Given the description of an element on the screen output the (x, y) to click on. 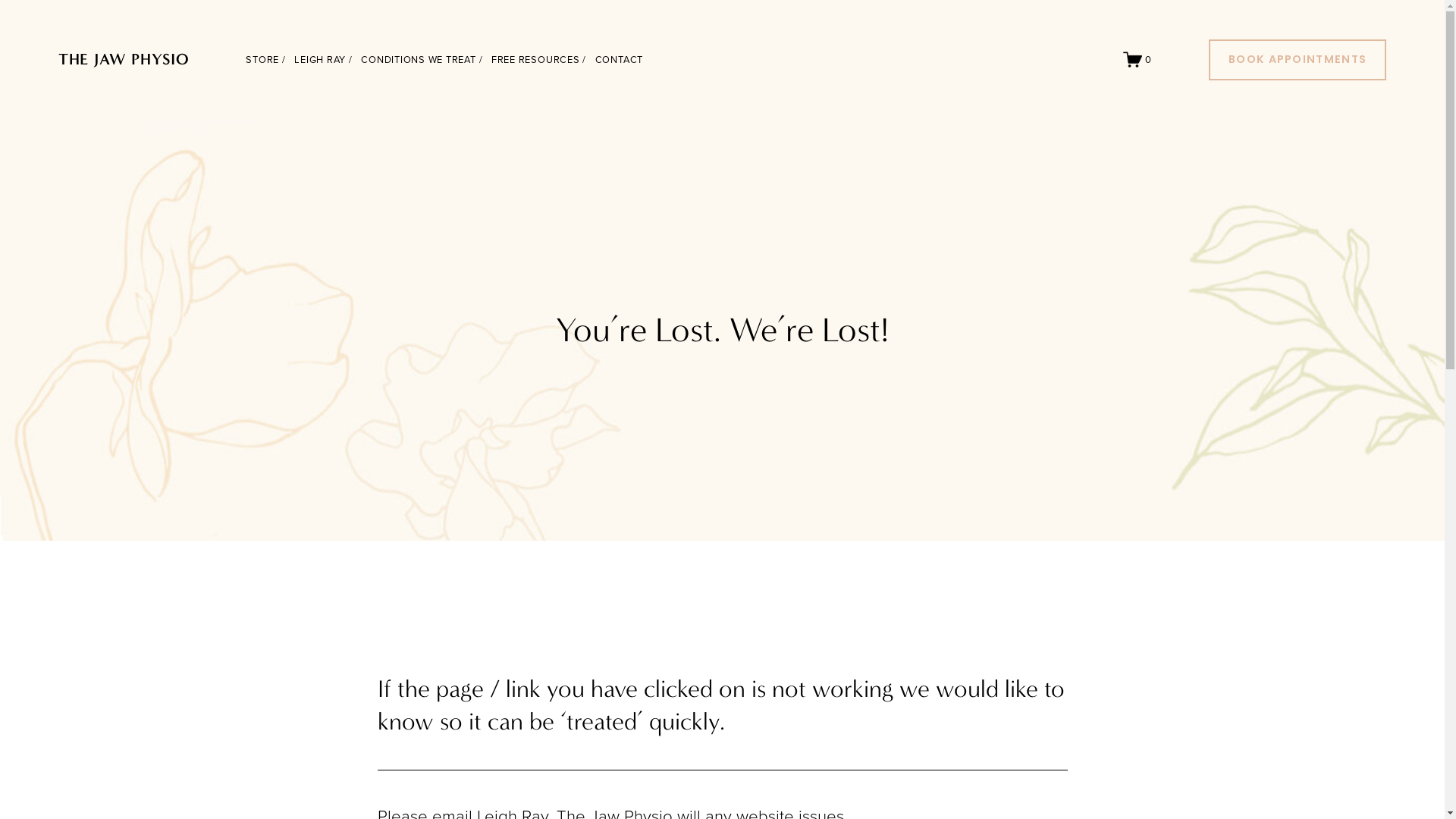
LEIGH RAY / Element type: text (322, 59)
STORE / Element type: text (265, 59)
0 Element type: text (1137, 59)
CONDITIONS WE TREAT / Element type: text (421, 59)
THE JAW PHYSIO Element type: text (123, 59)
FREE RESOURCES / Element type: text (538, 59)
CONTACT Element type: text (619, 59)
BOOK APPOINTMENTS Element type: text (1297, 59)
